Given the description of an element on the screen output the (x, y) to click on. 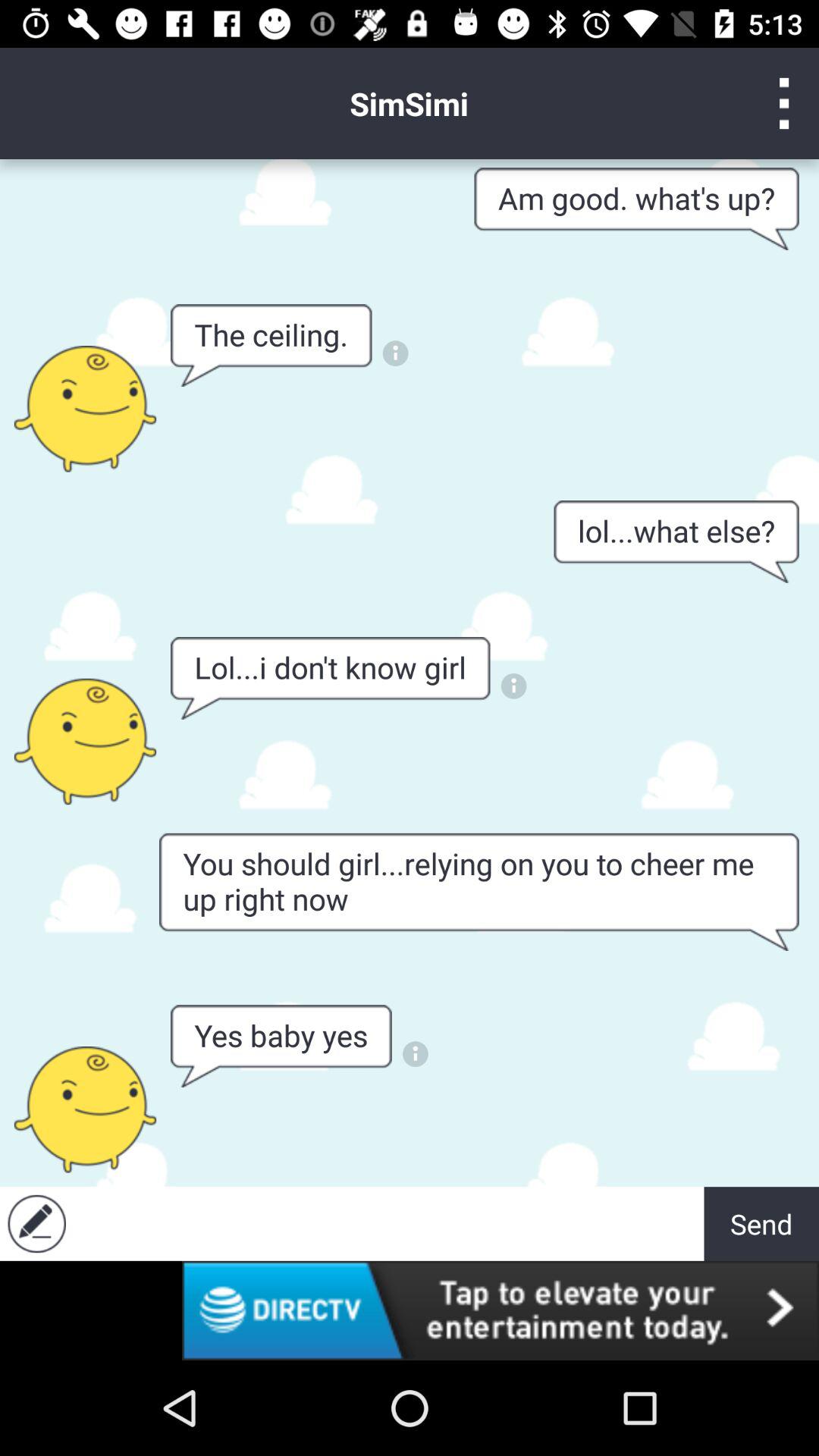
write text (388, 1223)
